Given the description of an element on the screen output the (x, y) to click on. 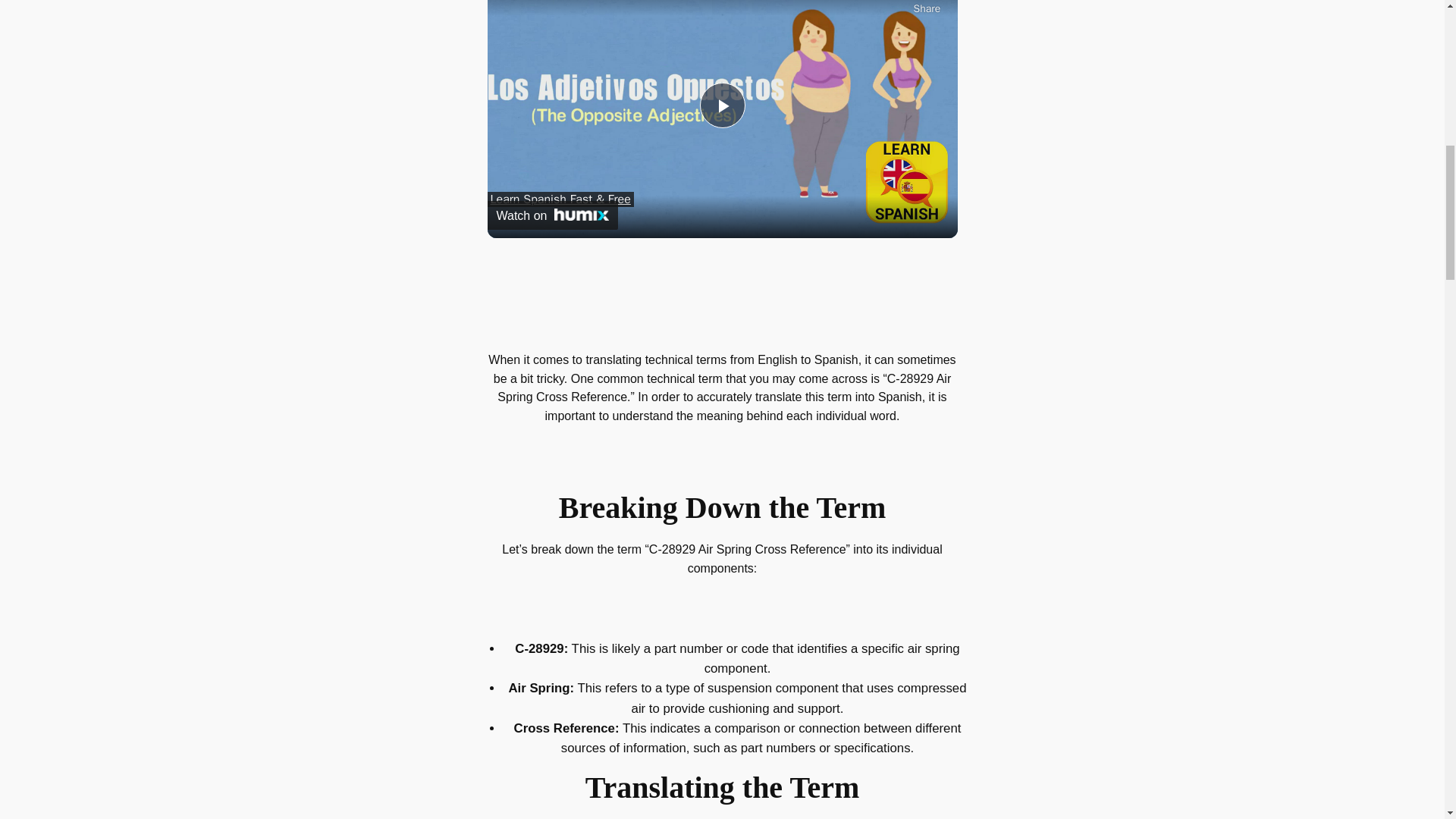
Share (926, 8)
Watch on (551, 215)
share (926, 8)
Play Video (721, 104)
Play Video (721, 104)
